Given the description of an element on the screen output the (x, y) to click on. 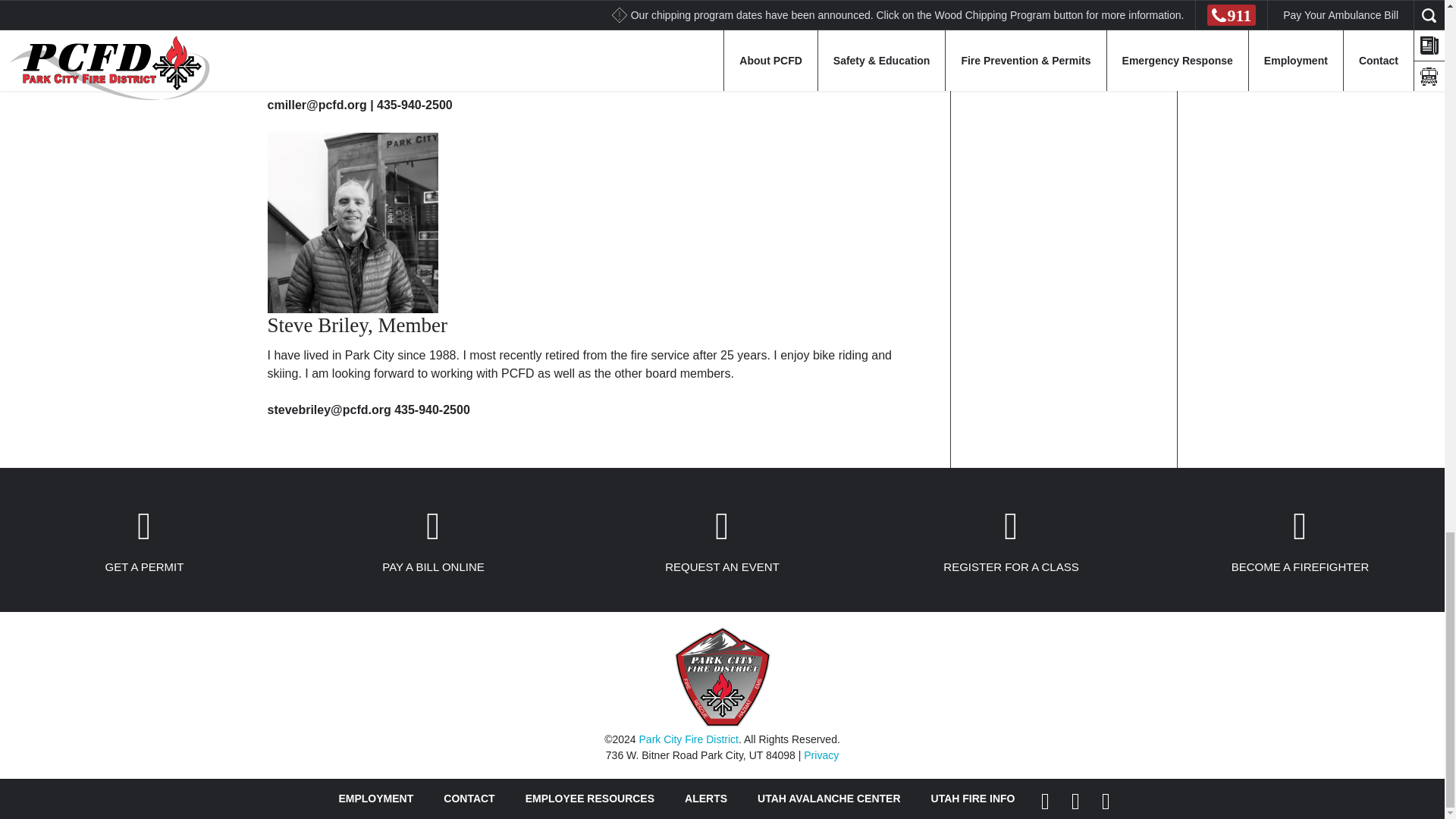
pcfd-patch (722, 676)
Park City Fire District (722, 723)
